Given the description of an element on the screen output the (x, y) to click on. 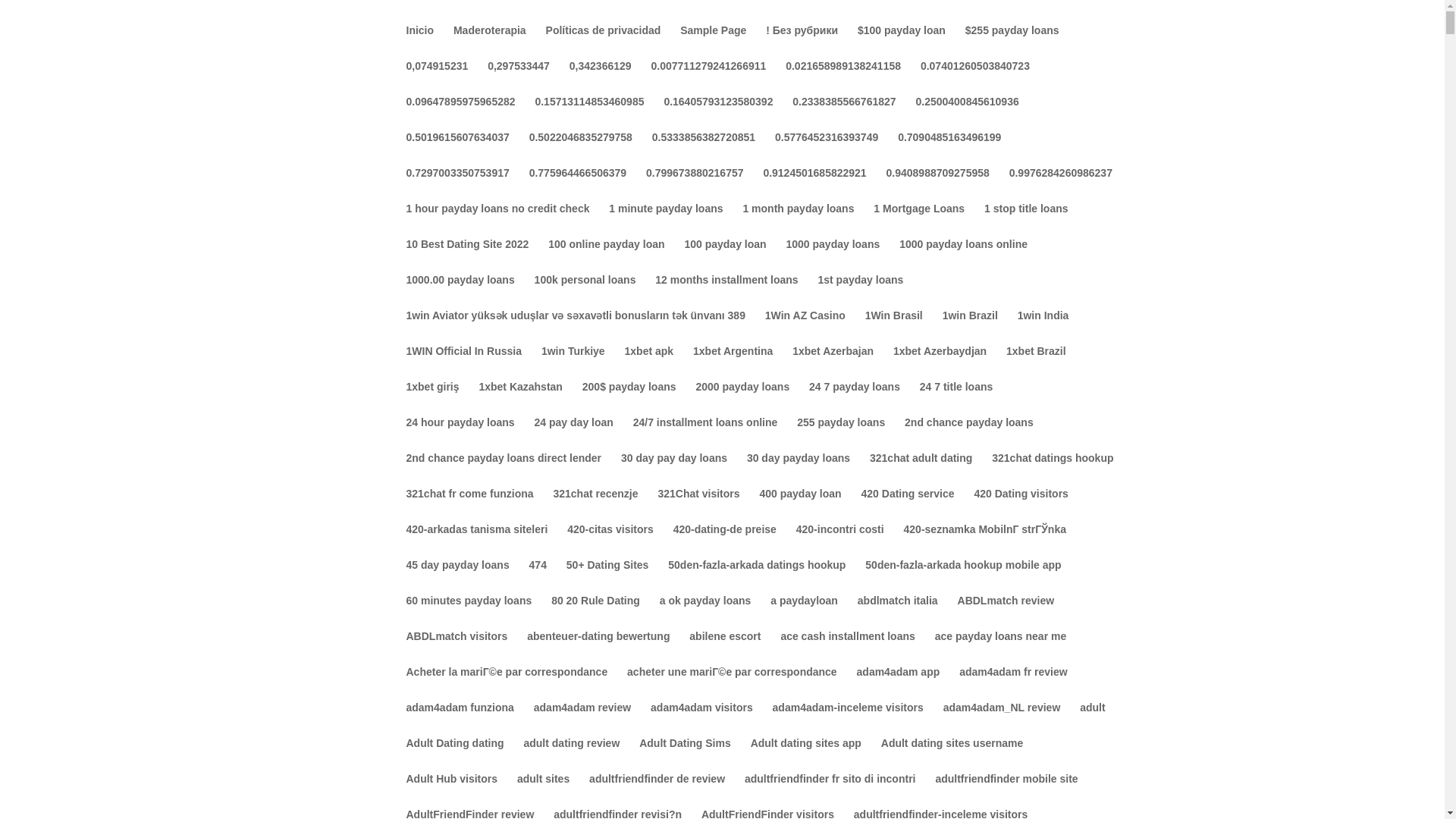
0.007711279241266911 (707, 78)
1000 payday loans online (963, 256)
0.5776452316393749 (825, 149)
1 hour payday loans no credit check (497, 221)
1 Mortgage Loans (918, 221)
1000 payday loans (832, 256)
0.775964466506379 (577, 185)
0.09647895975965282 (460, 113)
100 payday loan (724, 256)
0.9124501685822921 (814, 185)
0.9976284260986237 (1060, 185)
0.07401260503840723 (974, 78)
0.7297003350753917 (457, 185)
0,297533447 (518, 78)
0.5019615607634037 (457, 149)
